Given the description of an element on the screen output the (x, y) to click on. 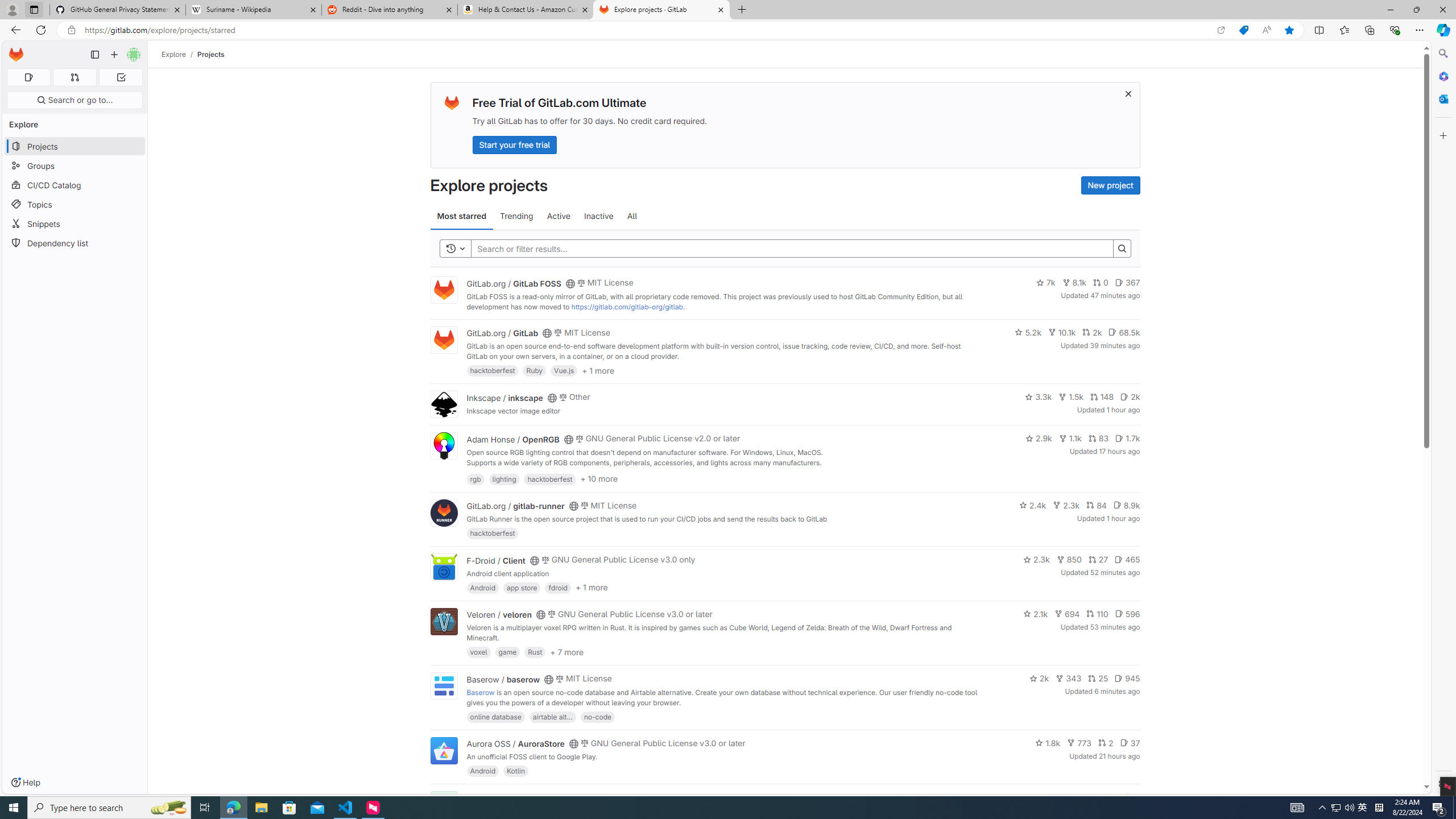
367 (1127, 282)
2.1k (1035, 613)
773 (1079, 742)
+ 10 more (599, 478)
1.4k (1054, 797)
Dismiss trial promotion (1128, 93)
To-Do list 0 (120, 76)
hacktoberfest (492, 533)
37 (1129, 742)
Adam Honse / OpenRGB (512, 438)
Edouard Klein / falsisign (512, 797)
